Given the description of an element on the screen output the (x, y) to click on. 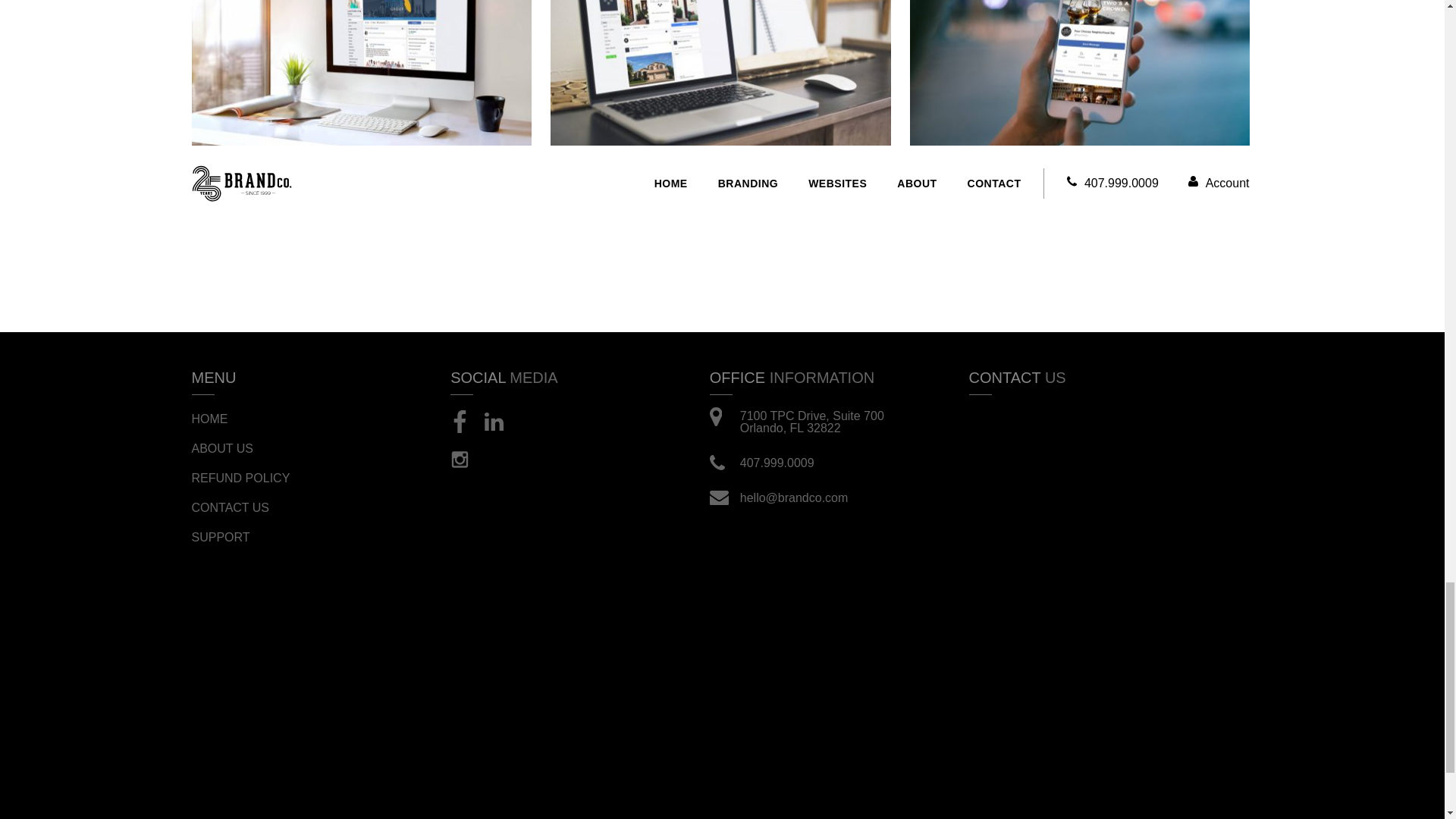
CONTACT US (239, 507)
ABOUT US (239, 448)
SUPPORT (239, 537)
HOME (239, 419)
REFUND POLICY (239, 478)
